Given the description of an element on the screen output the (x, y) to click on. 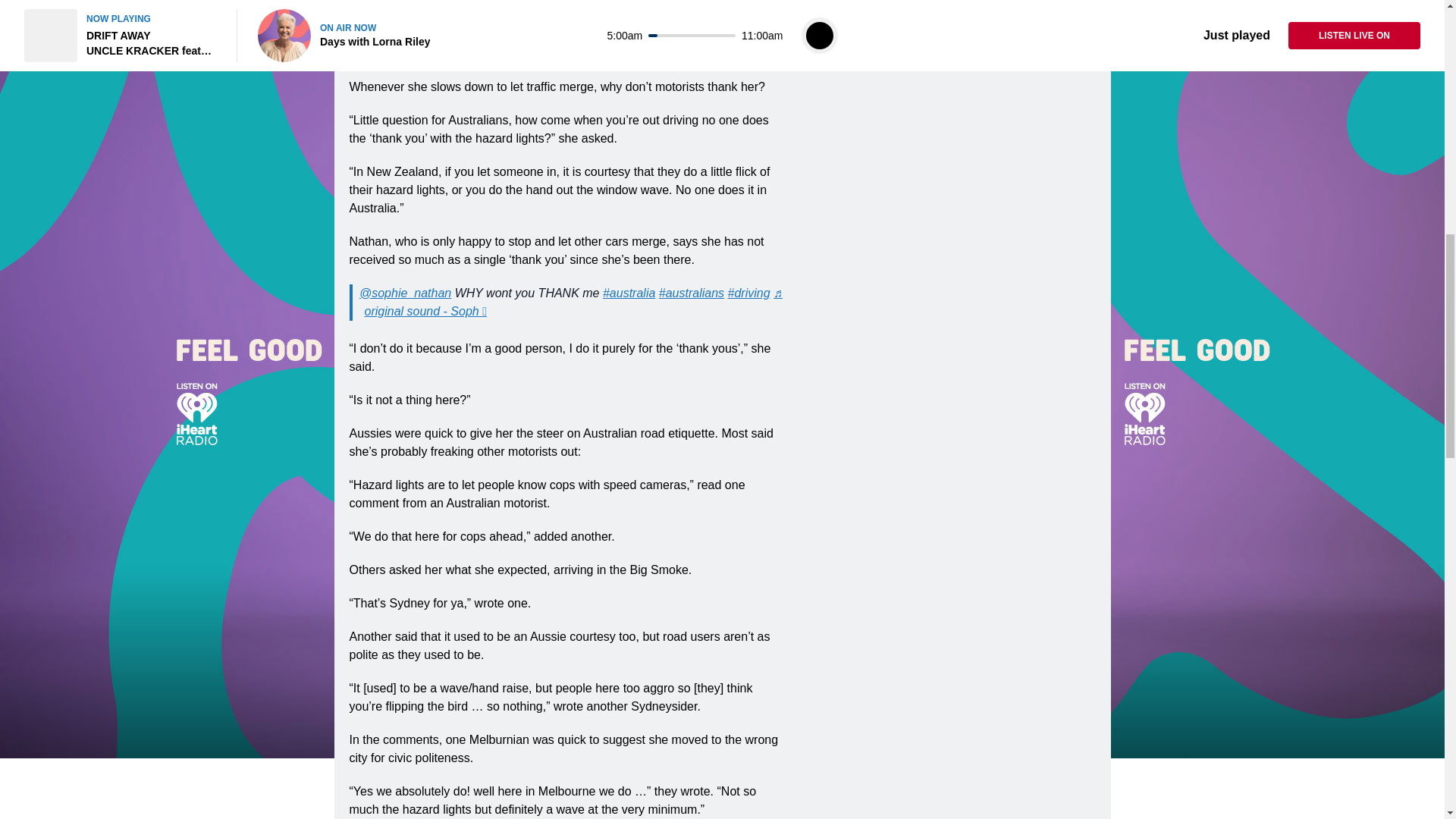
australia (628, 292)
australians (691, 292)
CoastLine signup (569, 43)
driving (749, 292)
